Given the description of an element on the screen output the (x, y) to click on. 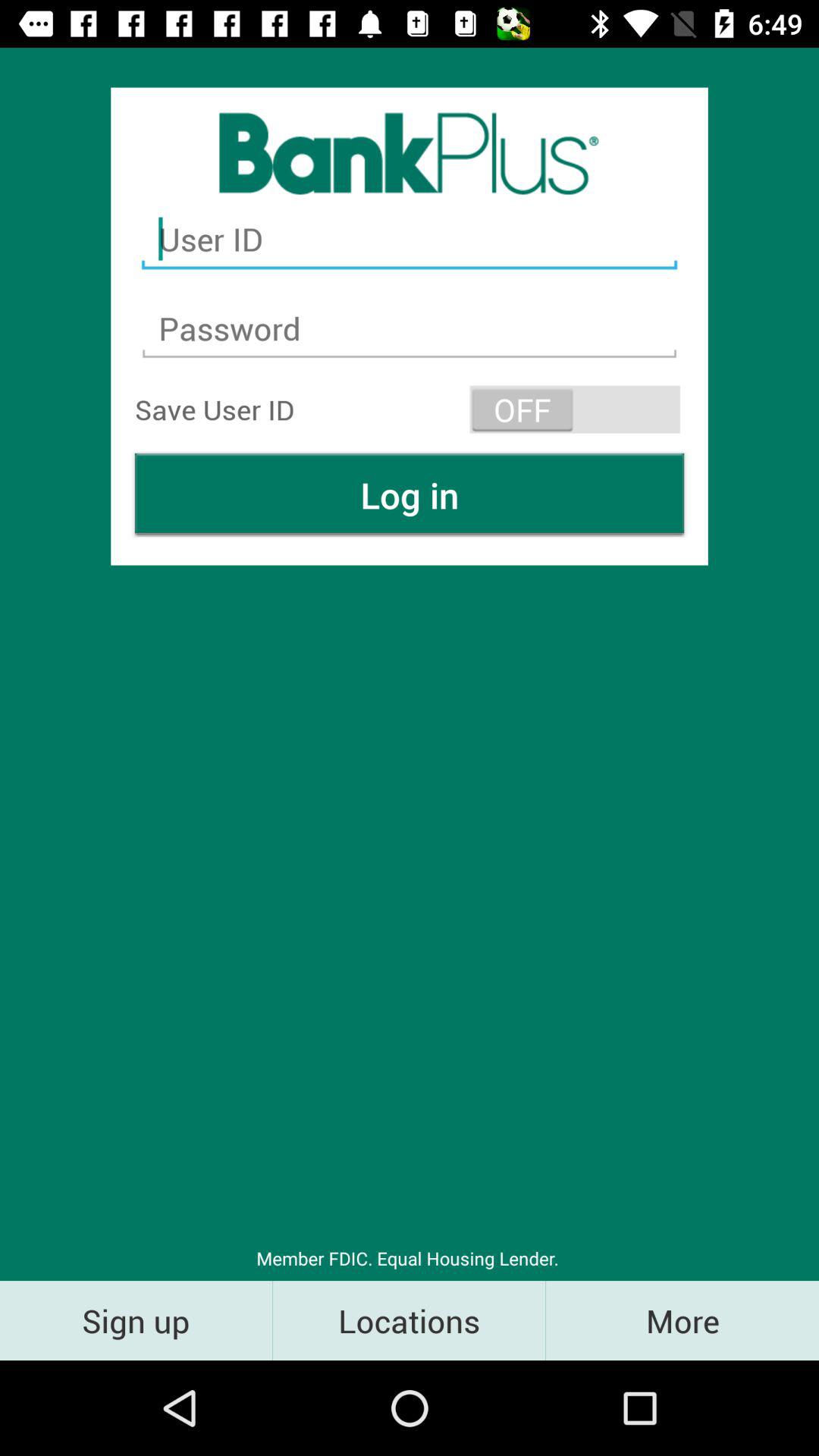
select the log in item (409, 494)
